Given the description of an element on the screen output the (x, y) to click on. 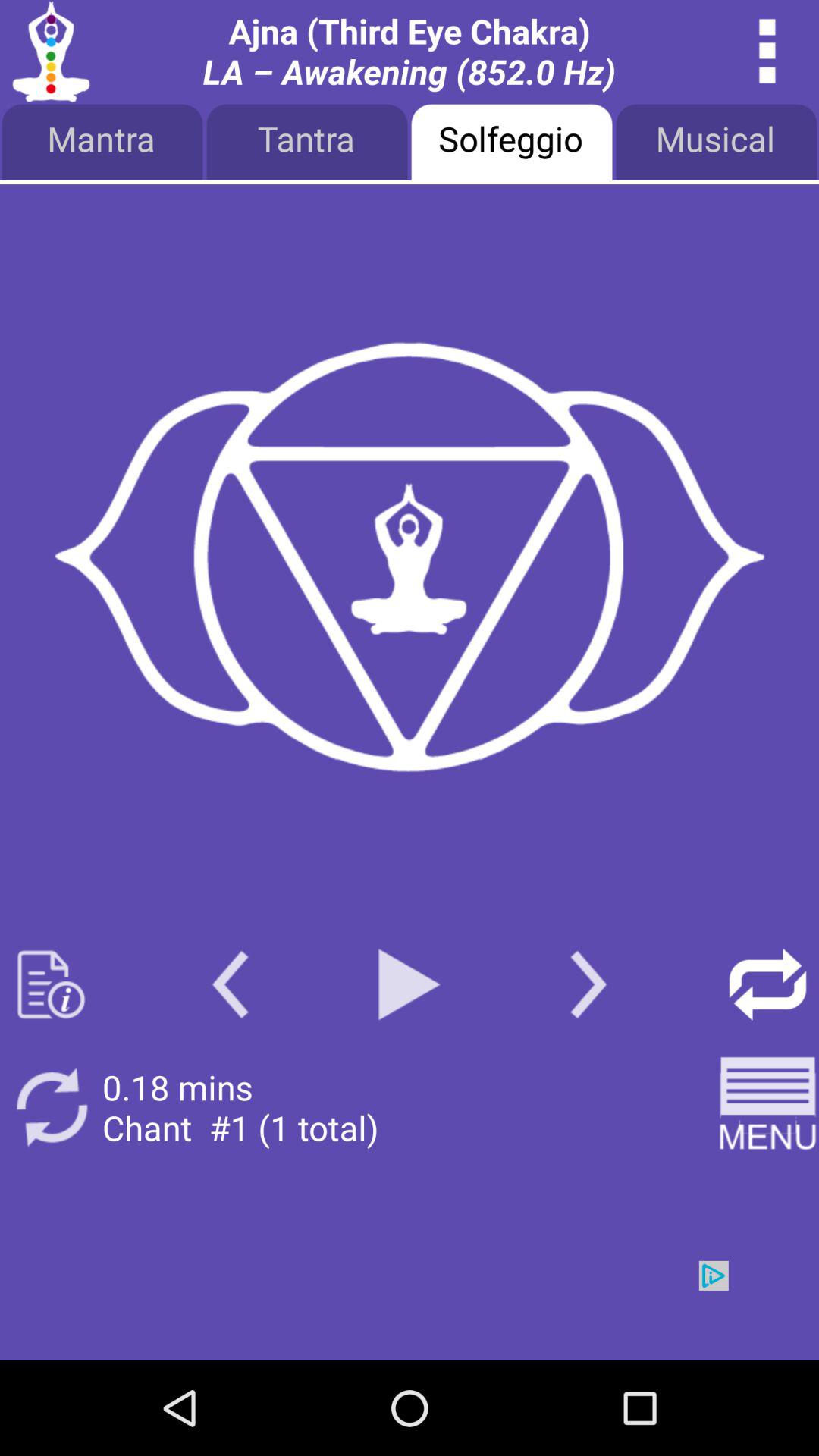
reload page (767, 984)
